Given the description of an element on the screen output the (x, y) to click on. 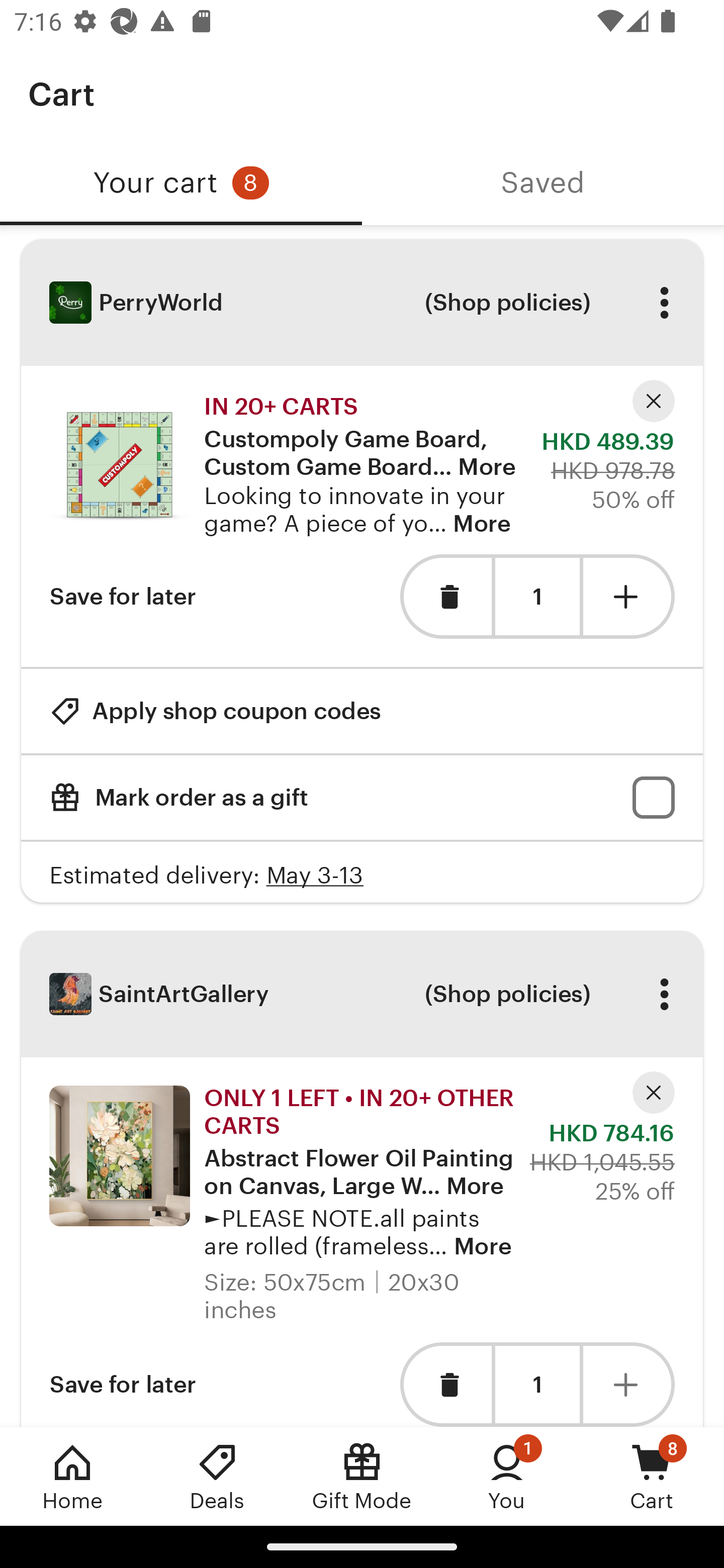
Saved, tab 2 of 2 Saved (543, 183)
PerryWorld (Shop policies) More options (361, 302)
(Shop policies) (507, 302)
More options (663, 302)
Save for later (122, 596)
Remove item from cart (445, 596)
Add one unit to cart (628, 596)
1 (537, 597)
Apply shop coupon codes (215, 710)
Mark order as a gift (361, 797)
SaintArtGallery (Shop policies) More options (361, 993)
(Shop policies) (507, 993)
More options (663, 993)
Save for later (122, 1384)
Remove item from cart (445, 1384)
Add one unit to cart (628, 1384)
1 (537, 1384)
Home (72, 1475)
Deals (216, 1475)
Gift Mode (361, 1475)
You, 1 new notification You (506, 1475)
